Given the description of an element on the screen output the (x, y) to click on. 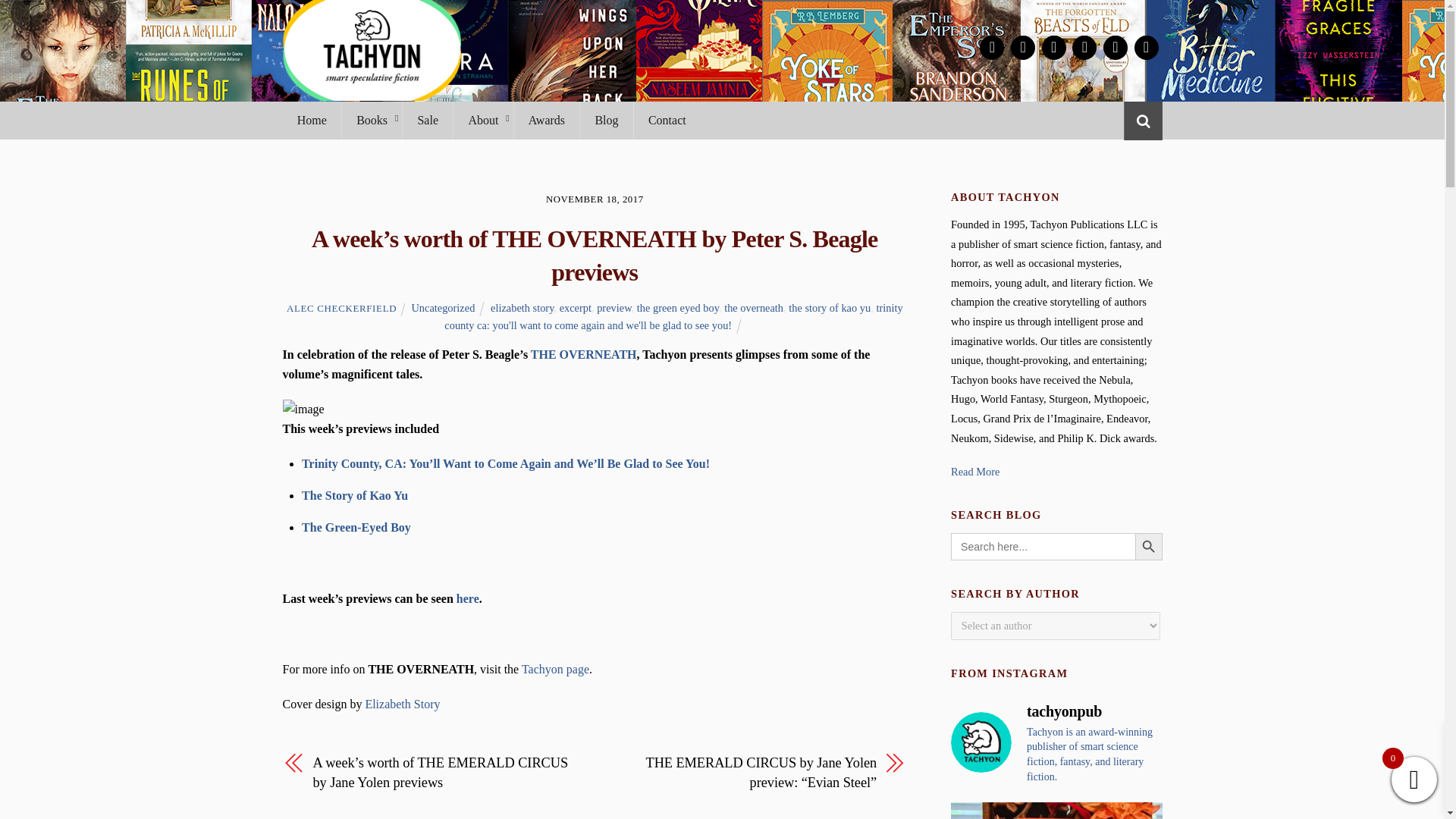
Books (370, 120)
Contact (666, 120)
ALEC CHECKERFIELD (341, 307)
Uncategorized (442, 307)
elizabeth story (521, 307)
tachyon-logo (371, 50)
Home (311, 120)
About (482, 120)
Blog (606, 120)
Awards (546, 120)
Tachyon Publications (371, 93)
excerpt (575, 307)
Sale (426, 120)
preview (613, 307)
